Given the description of an element on the screen output the (x, y) to click on. 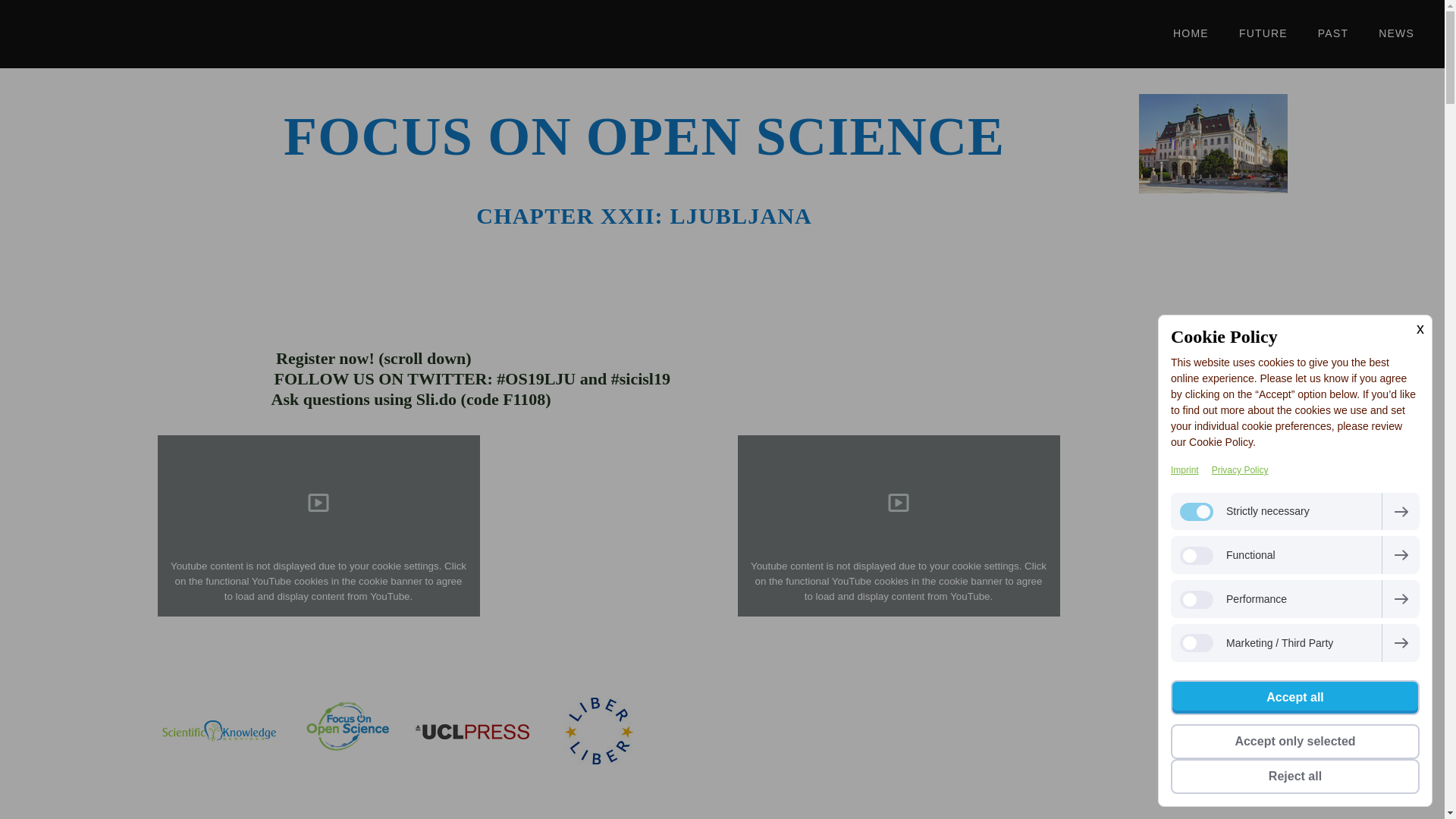
FUTURE (1263, 33)
NEWS (1395, 33)
PAST (1332, 33)
functional YouTube cookies in the cookie banner (894, 581)
HOME (1190, 33)
functional YouTube cookies in the cookie banner (313, 581)
